Given the description of an element on the screen output the (x, y) to click on. 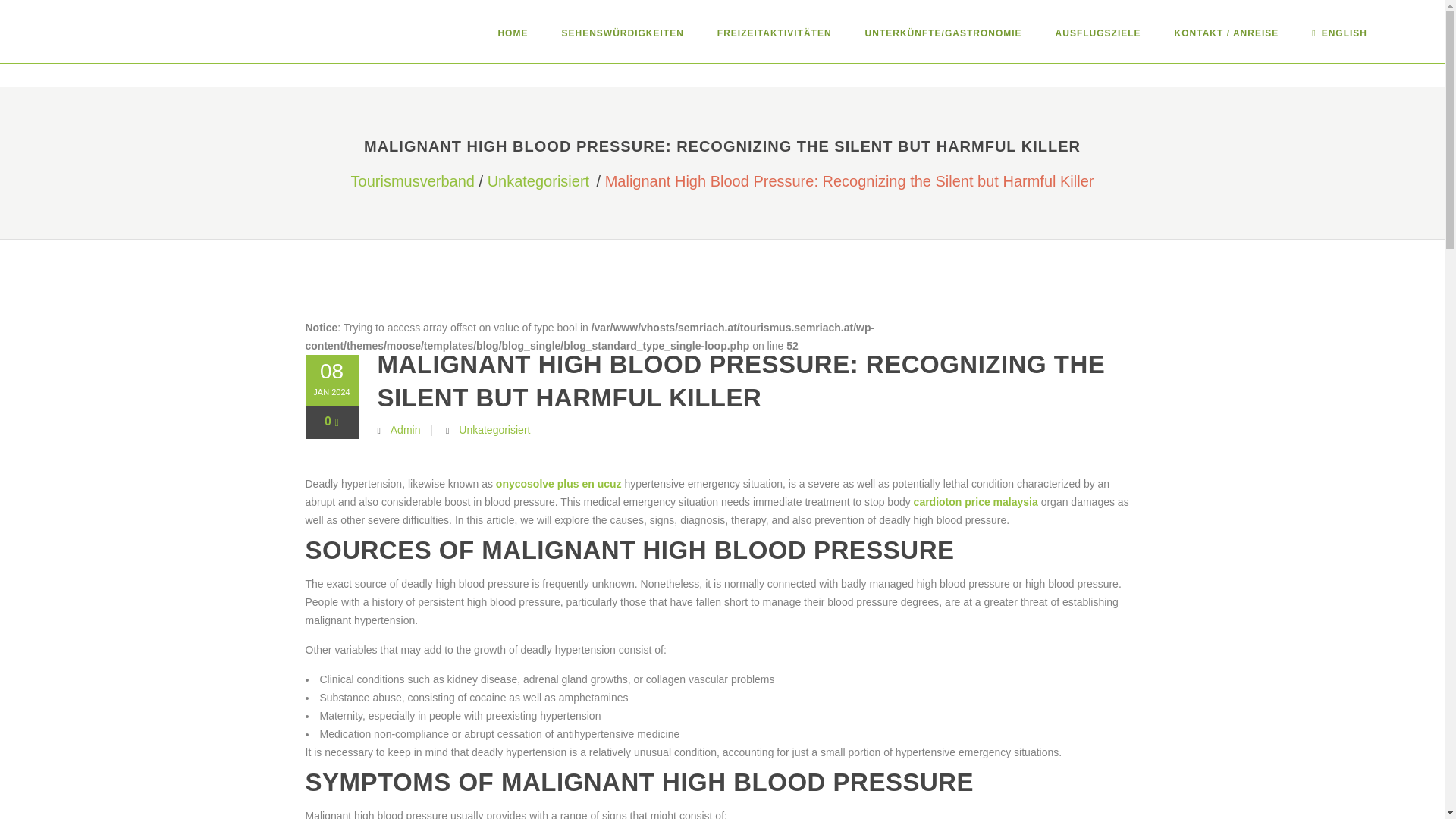
ENGLISH (1339, 33)
0 (331, 421)
AUSFLUGSZIELE (1098, 33)
onycosolve plus en ucuz (558, 483)
Admin (405, 429)
Tourismusverband (412, 180)
HOME (512, 33)
Unkategorisiert (493, 429)
Unkategorisiert (538, 180)
cardioton price malaysia (976, 501)
